Given the description of an element on the screen output the (x, y) to click on. 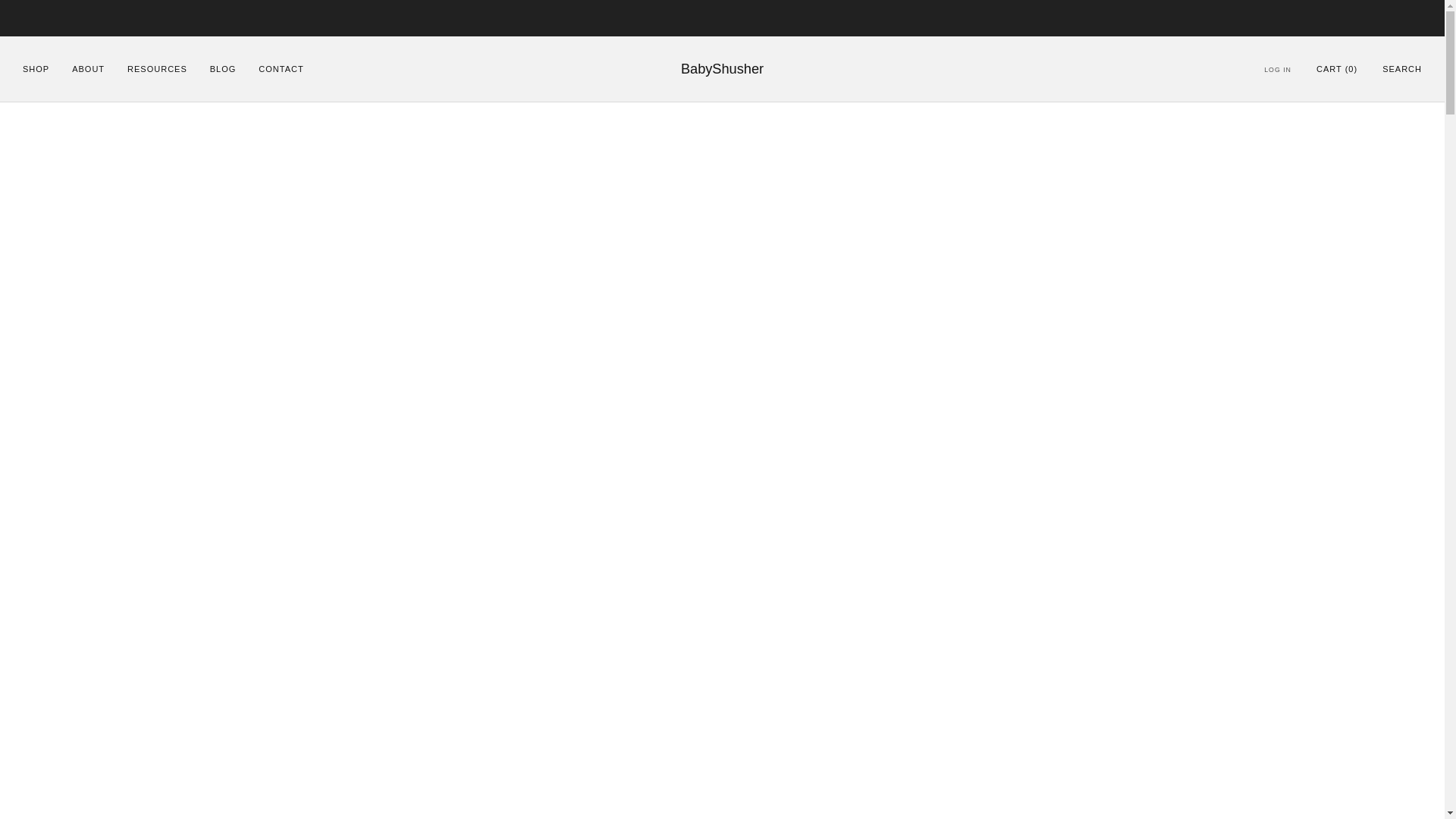
LOG IN (1277, 69)
RESOURCES (157, 68)
SEARCH (1401, 68)
BLOG (222, 68)
SHOP (36, 68)
ABOUT (87, 68)
BabyShusher (721, 68)
CONTACT (280, 68)
